Given the description of an element on the screen output the (x, y) to click on. 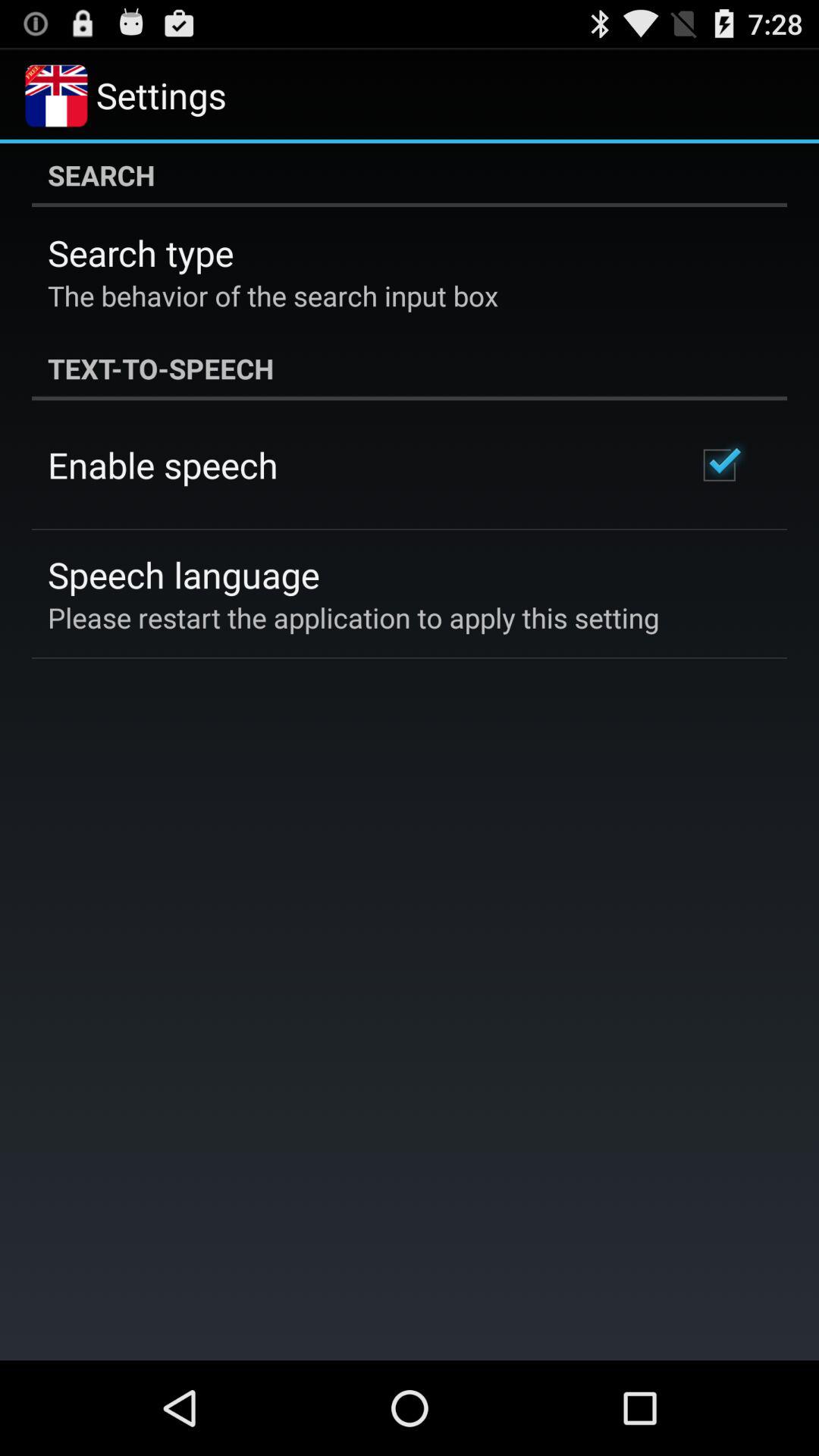
turn off item below the text-to-speech (719, 465)
